Given the description of an element on the screen output the (x, y) to click on. 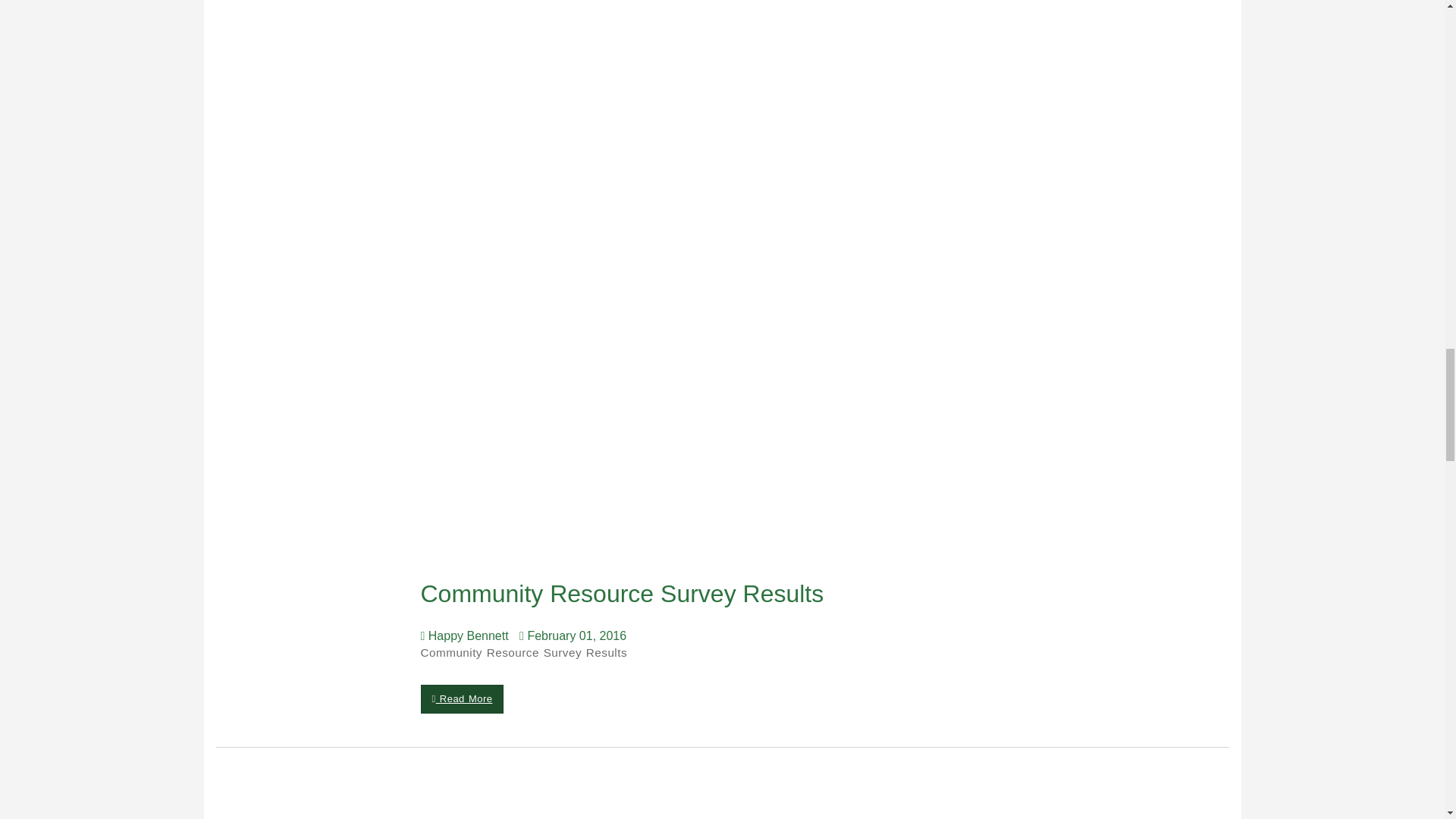
Read More (461, 698)
Community Resource Survey Results (625, 593)
February 01, 2016 (576, 635)
Happy Bennett (467, 635)
Posts by Happy Bennett (467, 635)
